Given the description of an element on the screen output the (x, y) to click on. 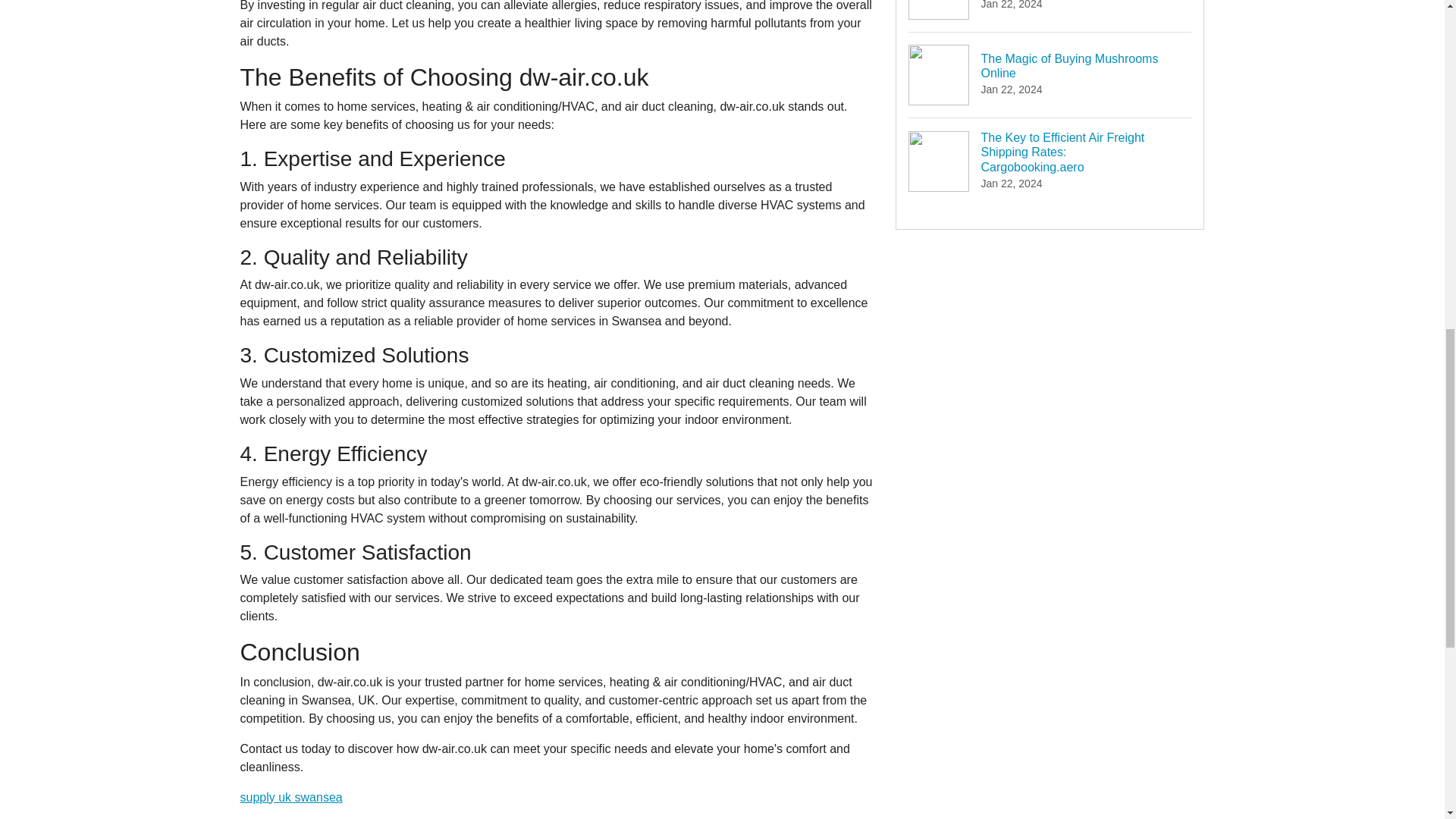
supply uk swansea (291, 797)
